Given the description of an element on the screen output the (x, y) to click on. 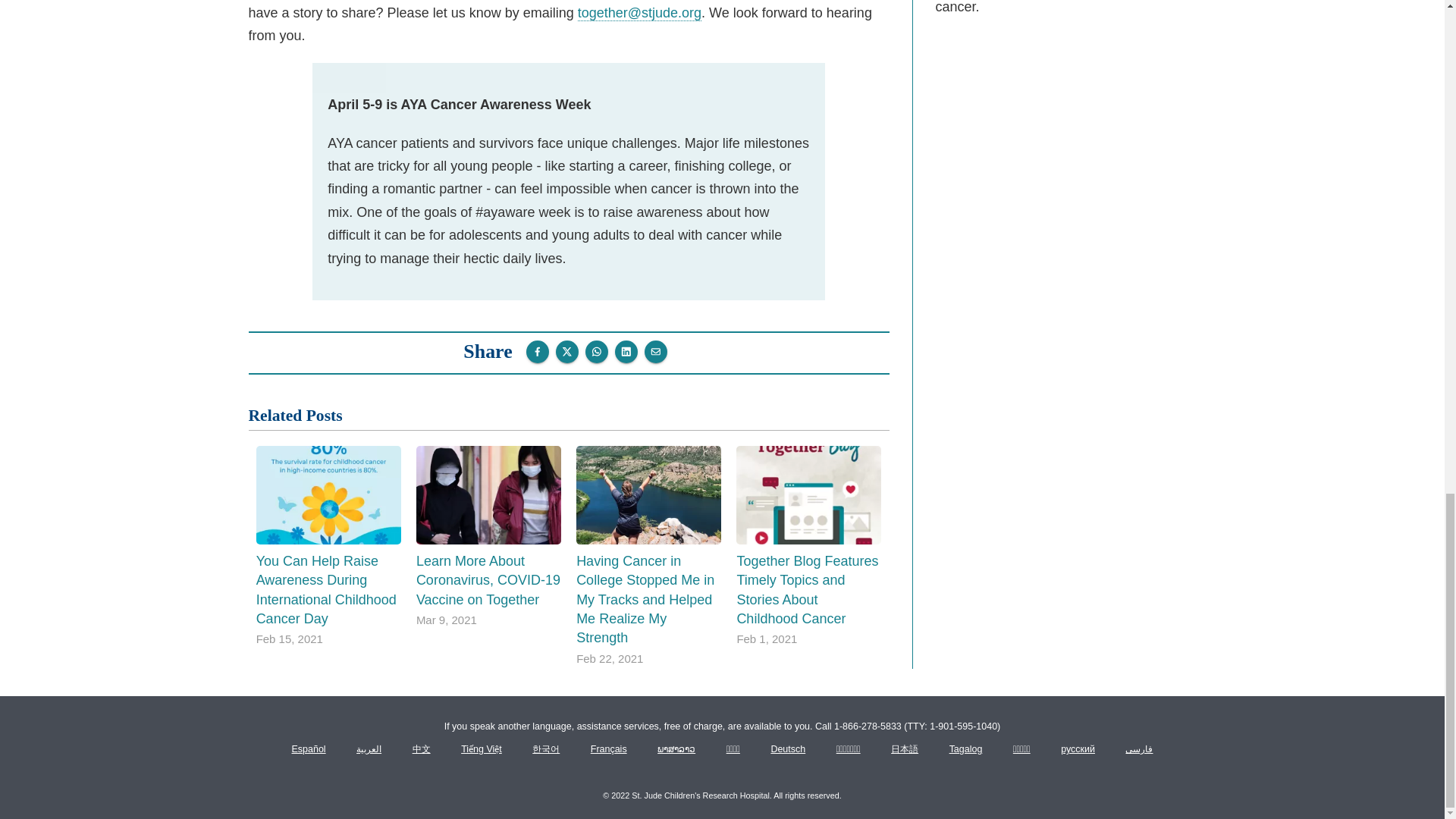
Twitter (567, 351)
Email this page (655, 351)
LinkedIn (625, 351)
Facebook (536, 351)
Send (596, 351)
